Given the description of an element on the screen output the (x, y) to click on. 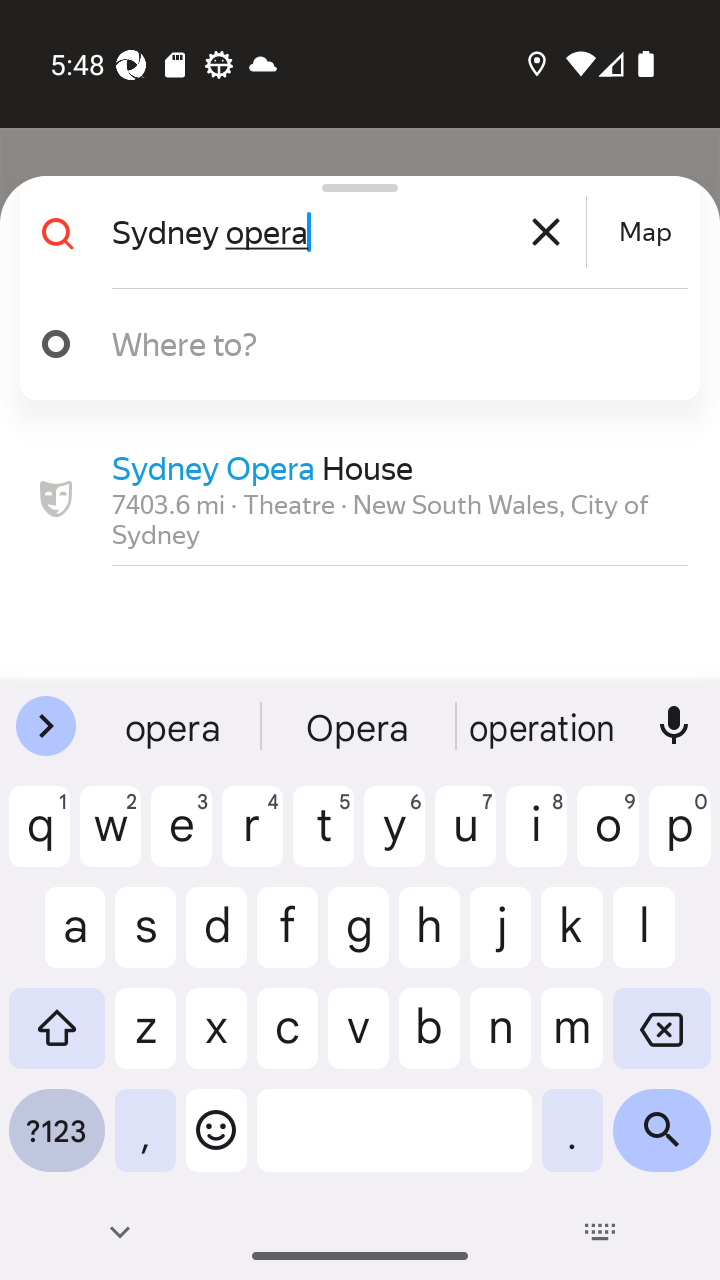
Sydney opera Clear text box Map Map (352, 232)
Map (645, 232)
Clear text box (546, 231)
Sydney opera (346, 232)
Where to? (352, 343)
Where to? (373, 343)
